Given the description of an element on the screen output the (x, y) to click on. 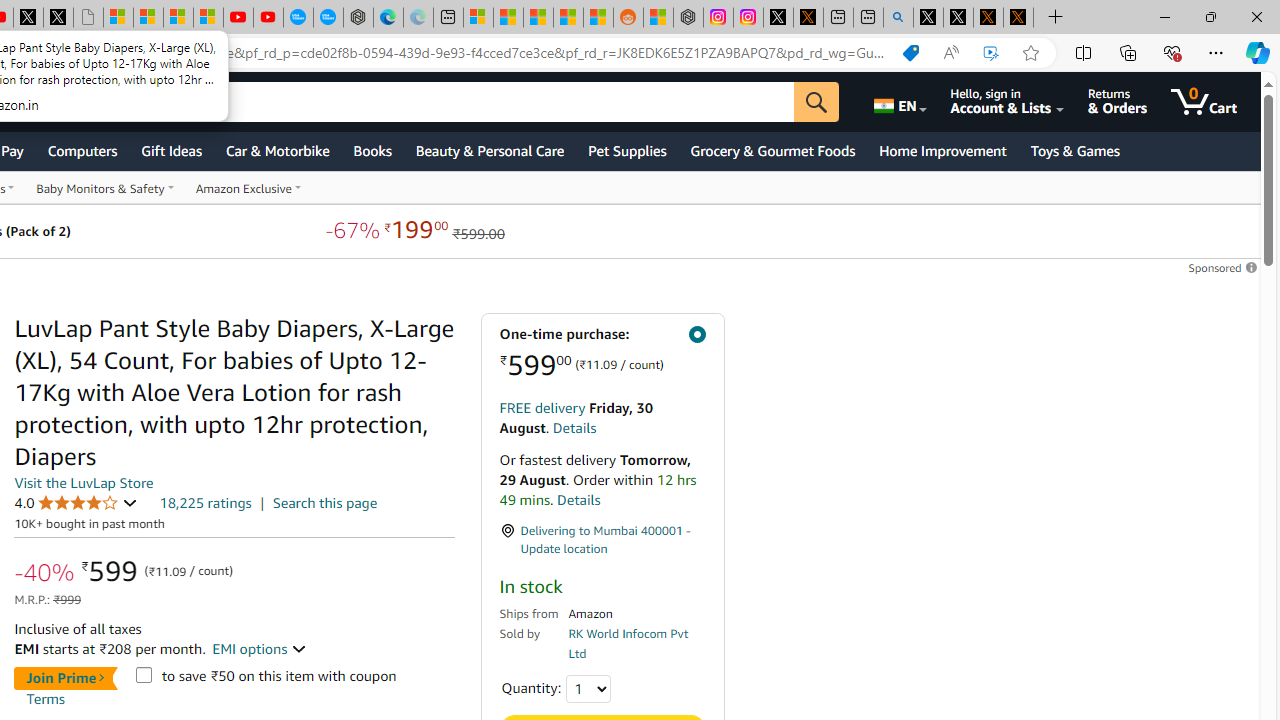
The most popular Google 'how to' searches (328, 17)
Shanghai, China Weather trends | Microsoft Weather (598, 17)
help.x.com | 524: A timeout occurred (808, 17)
Untitled (88, 17)
